Given the description of an element on the screen output the (x, y) to click on. 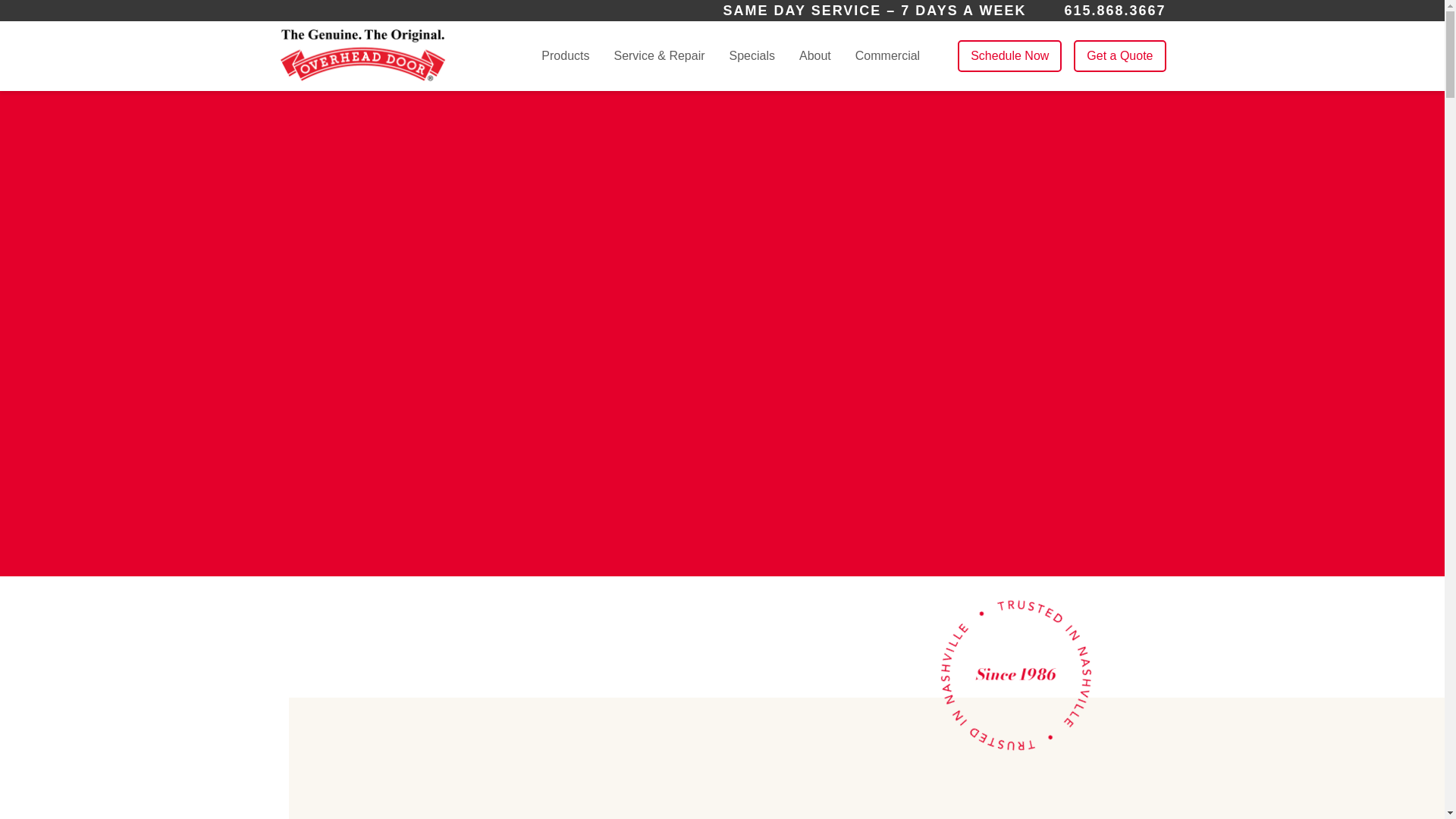
Specials (751, 55)
Commercial (888, 55)
Products (565, 55)
615.868.3667 (1115, 10)
Get a Quote (1120, 56)
Schedule Now (1009, 56)
About (815, 55)
